Given the description of an element on the screen output the (x, y) to click on. 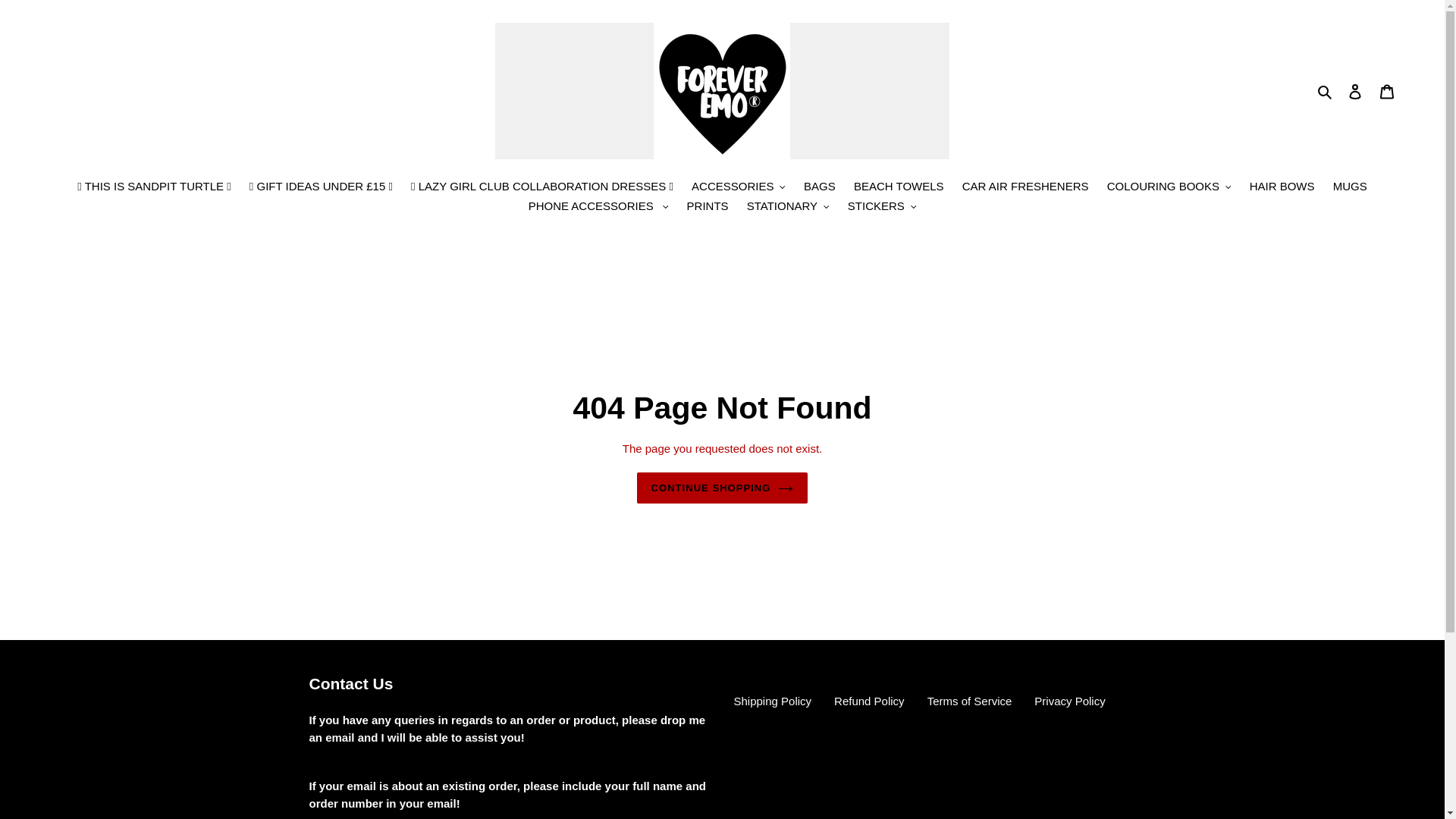
Search (1326, 90)
Cart (1387, 91)
Log in (1355, 91)
